Given the description of an element on the screen output the (x, y) to click on. 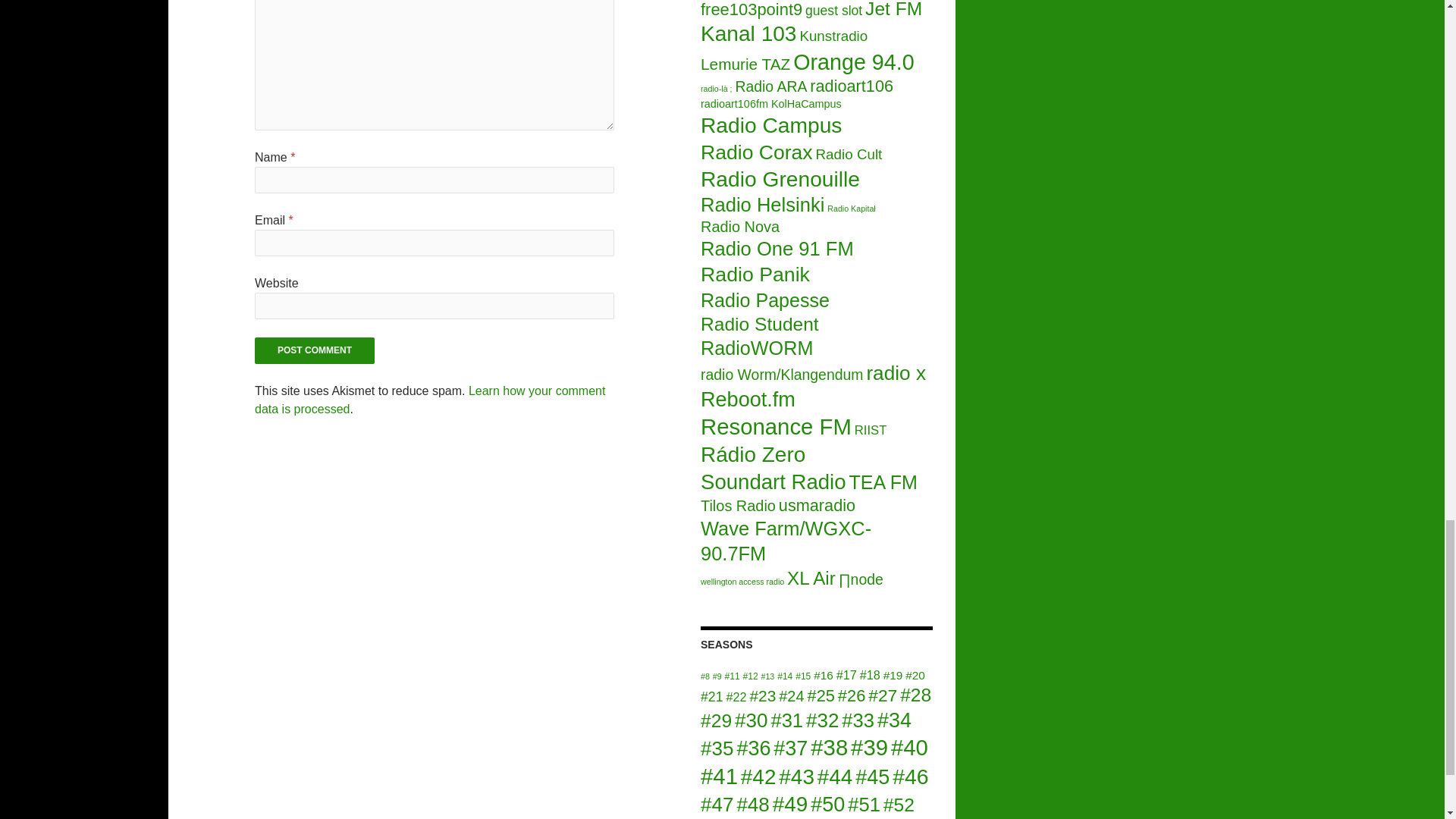
Post Comment (314, 350)
Post Comment (314, 350)
Learn how your comment data is processed (429, 399)
